Given the description of an element on the screen output the (x, y) to click on. 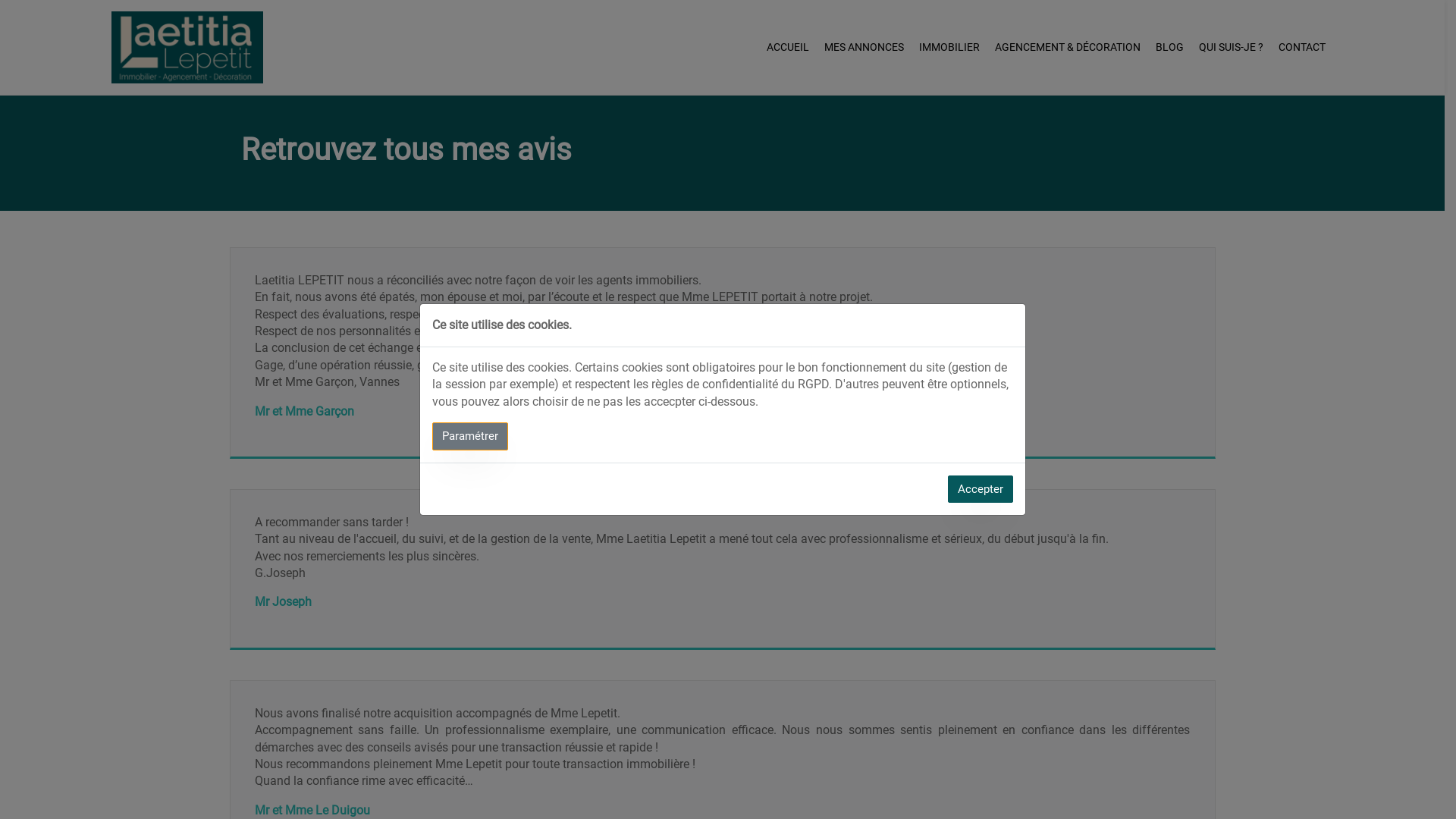
MES ANNONCES Element type: text (863, 46)
IMMOBILIER Element type: text (949, 46)
CONTACT Element type: text (1301, 46)
ACCUEIL Element type: text (787, 46)
BLOG Element type: text (1169, 46)
Accepter Element type: text (980, 489)
QUI SUIS-JE ? Element type: text (1230, 46)
